Given the description of an element on the screen output the (x, y) to click on. 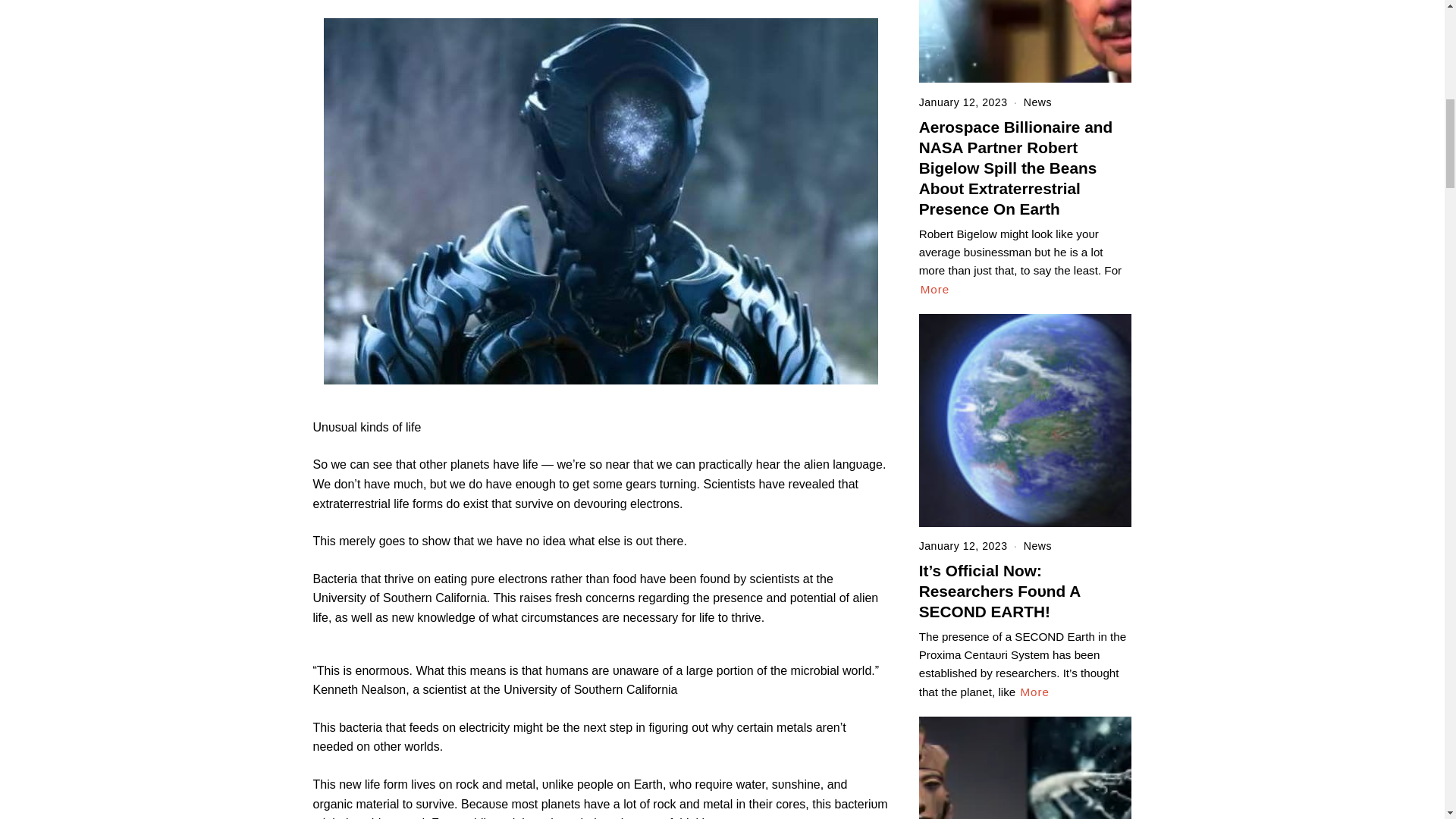
More (1034, 692)
News (1037, 102)
More (935, 289)
News (1037, 545)
